Given the description of an element on the screen output the (x, y) to click on. 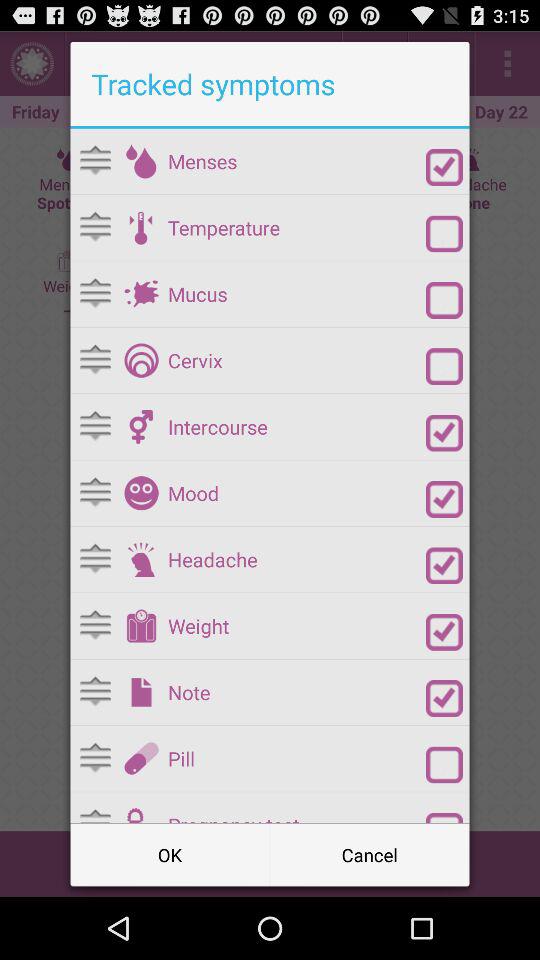
information about menses (141, 161)
